Given the description of an element on the screen output the (x, y) to click on. 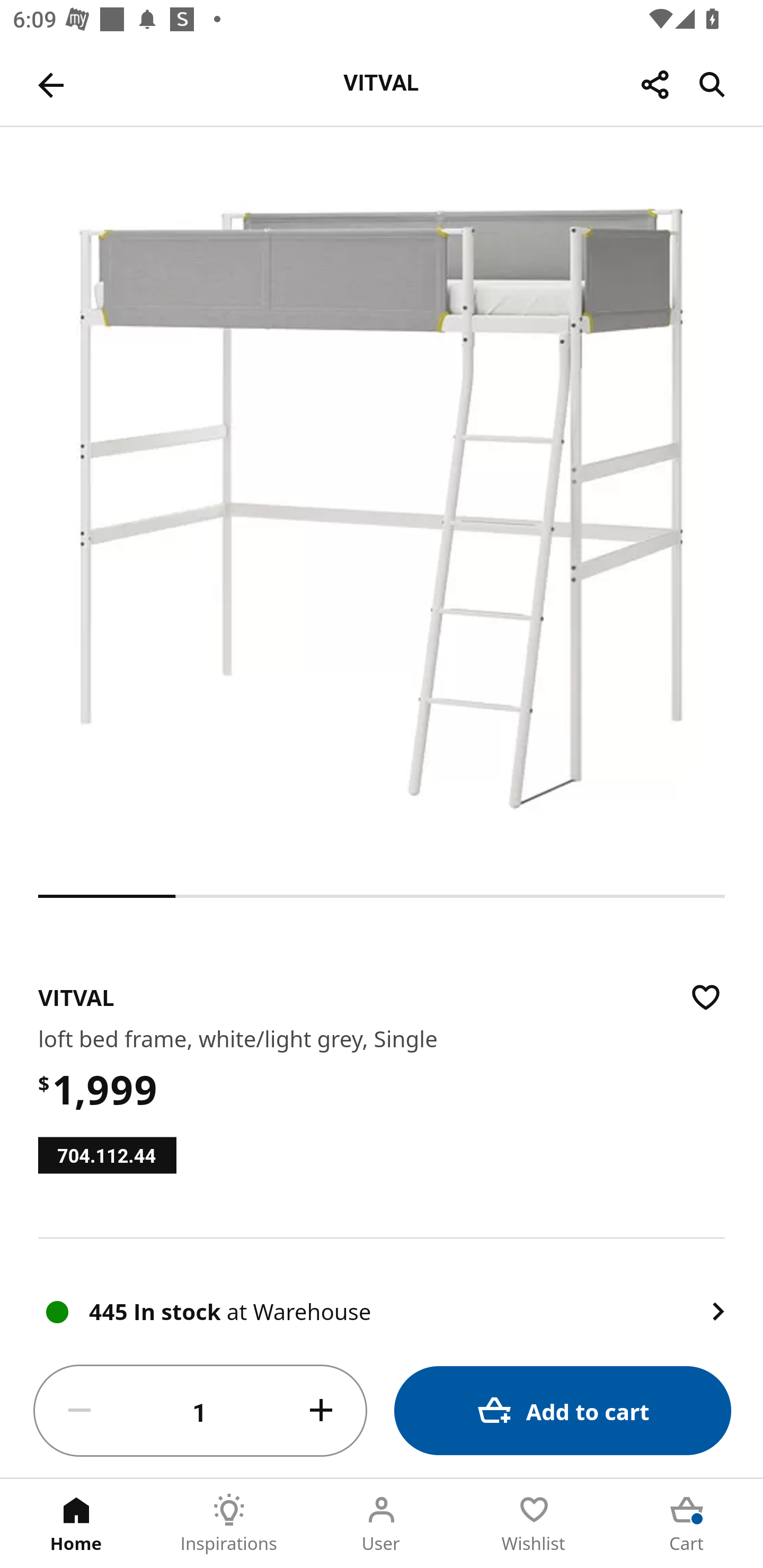
445 In stock at Warehouse (381, 1290)
Add to cart (562, 1410)
1 (200, 1411)
Home
Tab 1 of 5 (76, 1522)
Inspirations
Tab 2 of 5 (228, 1522)
User
Tab 3 of 5 (381, 1522)
Wishlist
Tab 4 of 5 (533, 1522)
Cart
Tab 5 of 5 (686, 1522)
